Given the description of an element on the screen output the (x, y) to click on. 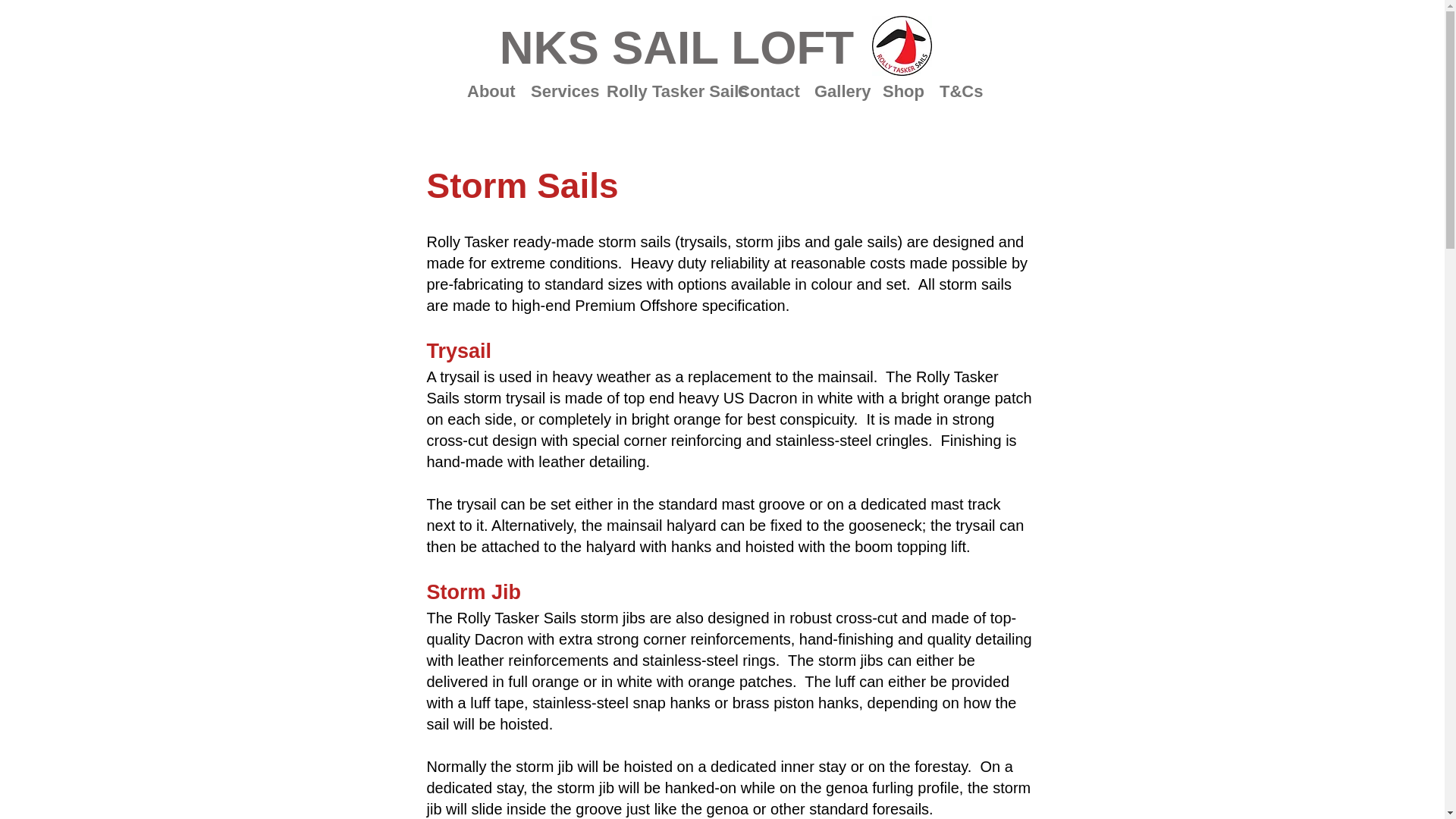
Contact (764, 91)
Rolly Tasker Sails (660, 91)
Gallery (836, 91)
Shop (899, 91)
Services (557, 91)
NKS SAIL LOFT (677, 48)
About (487, 91)
